Given the description of an element on the screen output the (x, y) to click on. 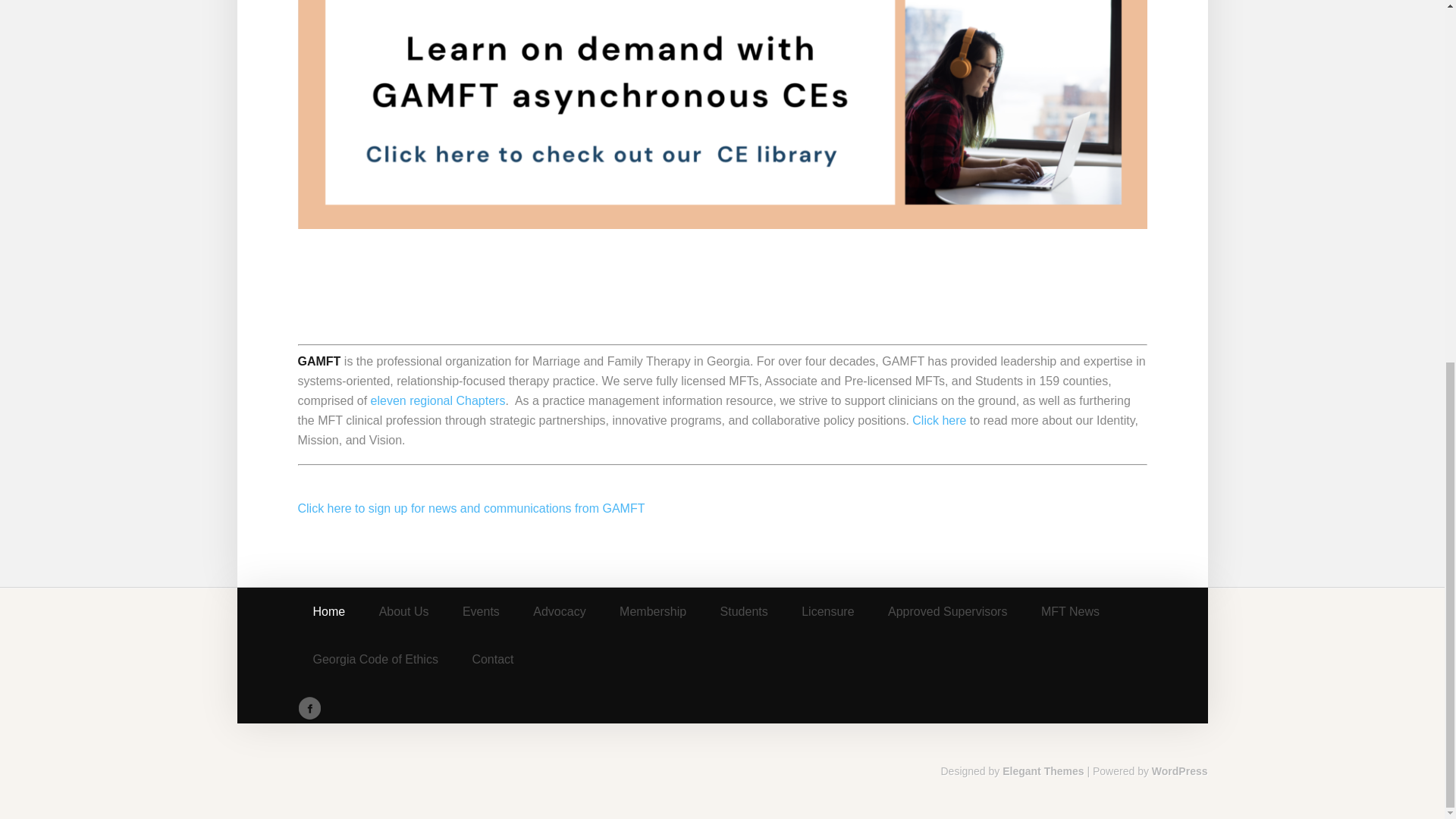
Premium WordPress Themes (1043, 770)
